Given the description of an element on the screen output the (x, y) to click on. 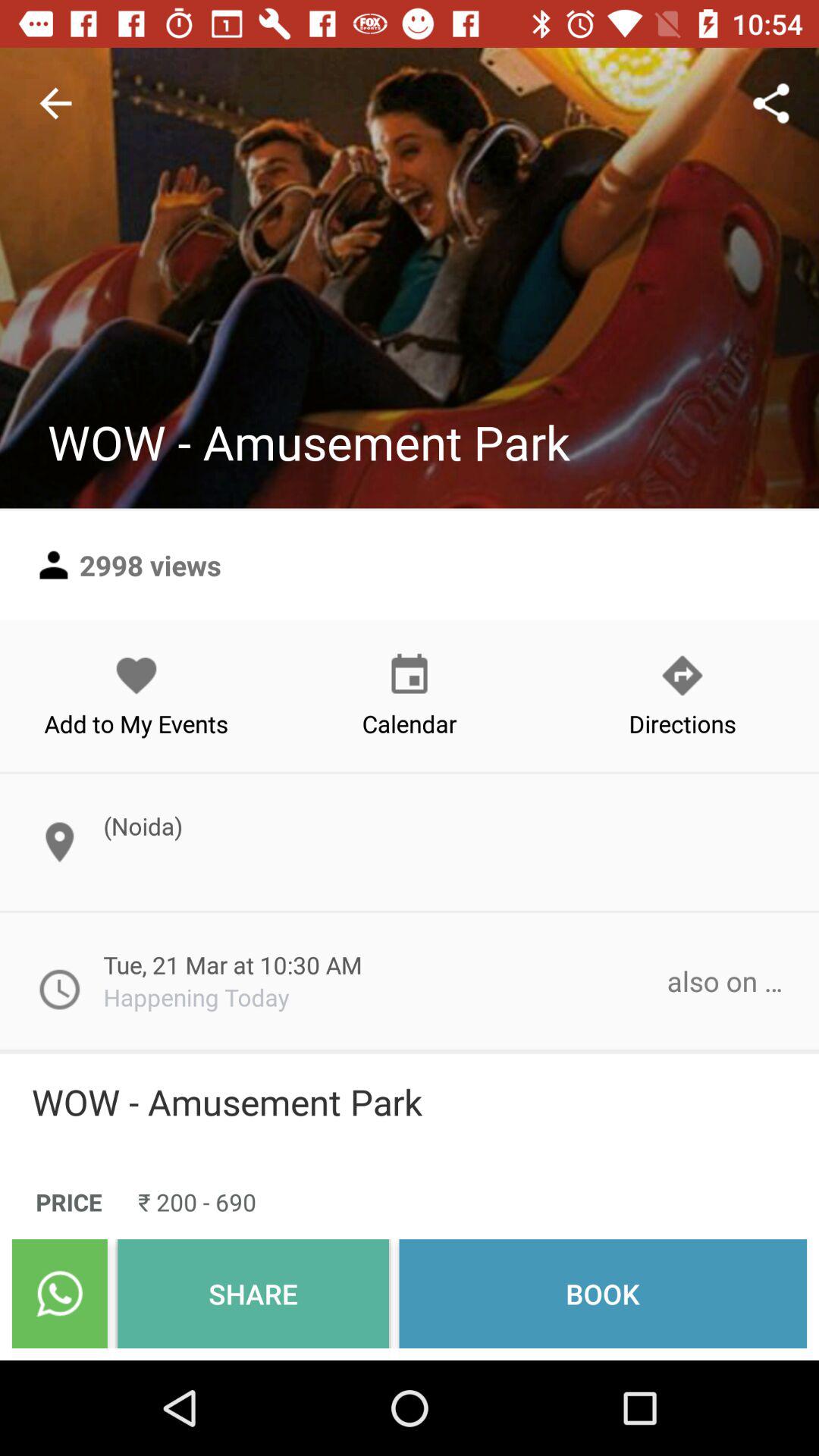
flip until book icon (603, 1293)
